Given the description of an element on the screen output the (x, y) to click on. 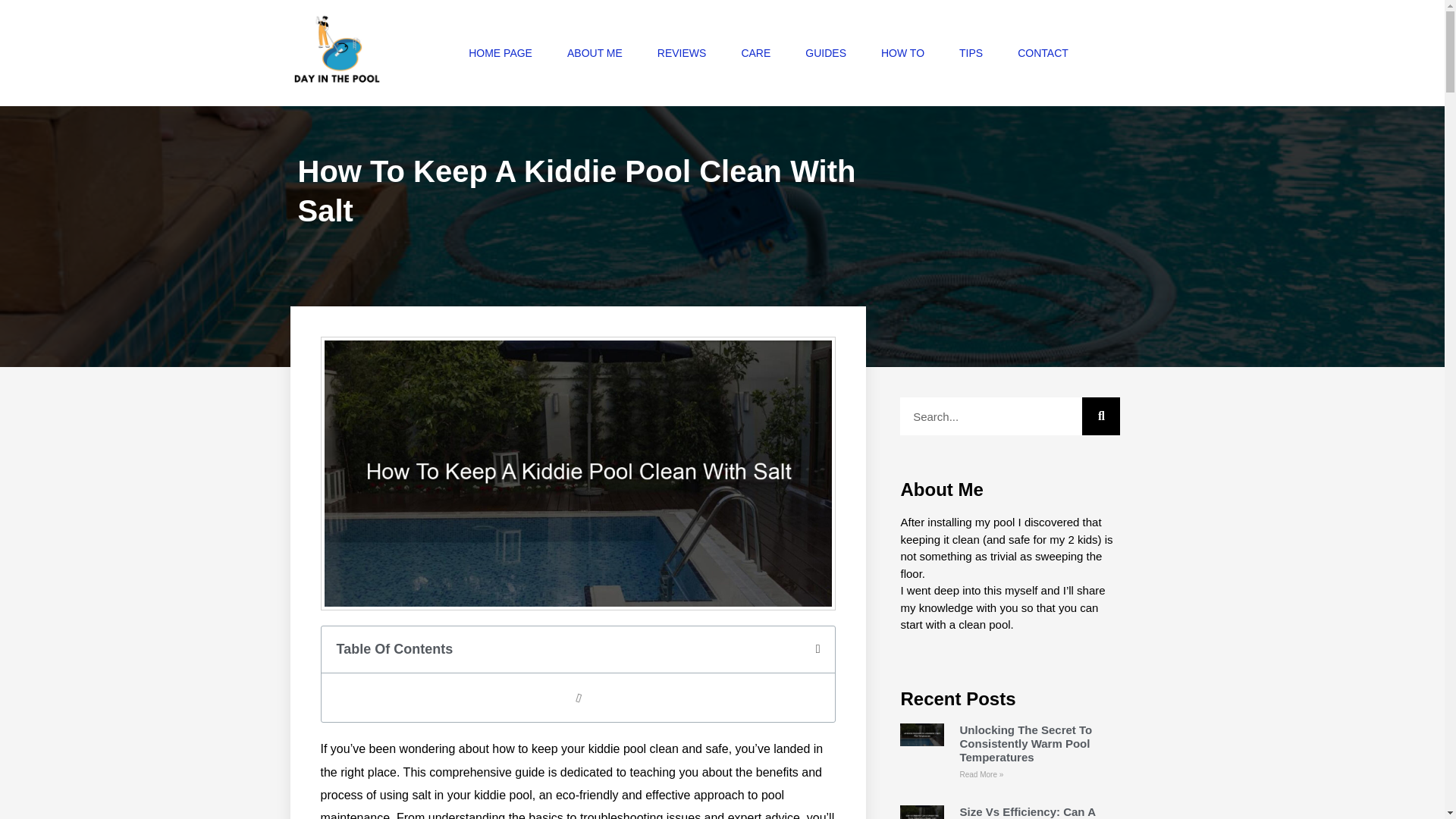
ABOUT ME (594, 52)
Search (990, 415)
REVIEWS (682, 52)
HOME PAGE (499, 52)
HOW TO (902, 52)
GUIDES (825, 52)
CONTACT (1043, 52)
Search (1100, 415)
